Given the description of an element on the screen output the (x, y) to click on. 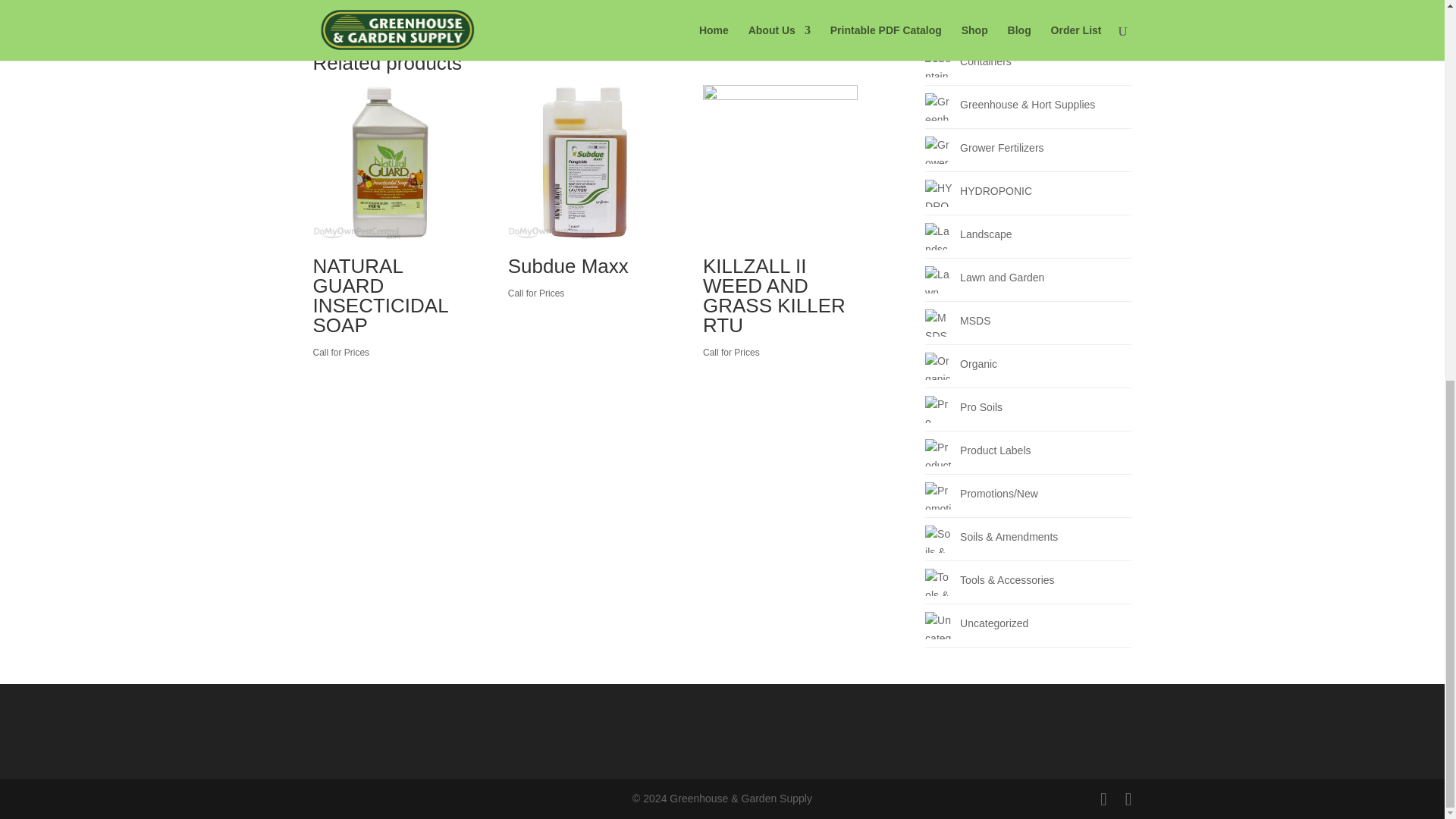
HYDROPONIC (938, 193)
Landscape (938, 236)
Containers (938, 62)
Grower Fertilizers (938, 149)
